Given the description of an element on the screen output the (x, y) to click on. 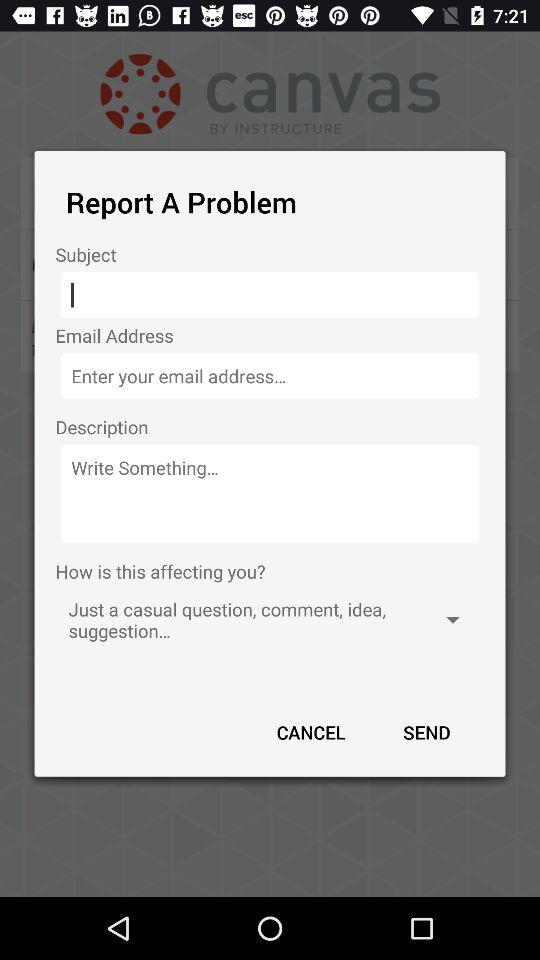
choose the icon next to cancel (426, 732)
